Given the description of an element on the screen output the (x, y) to click on. 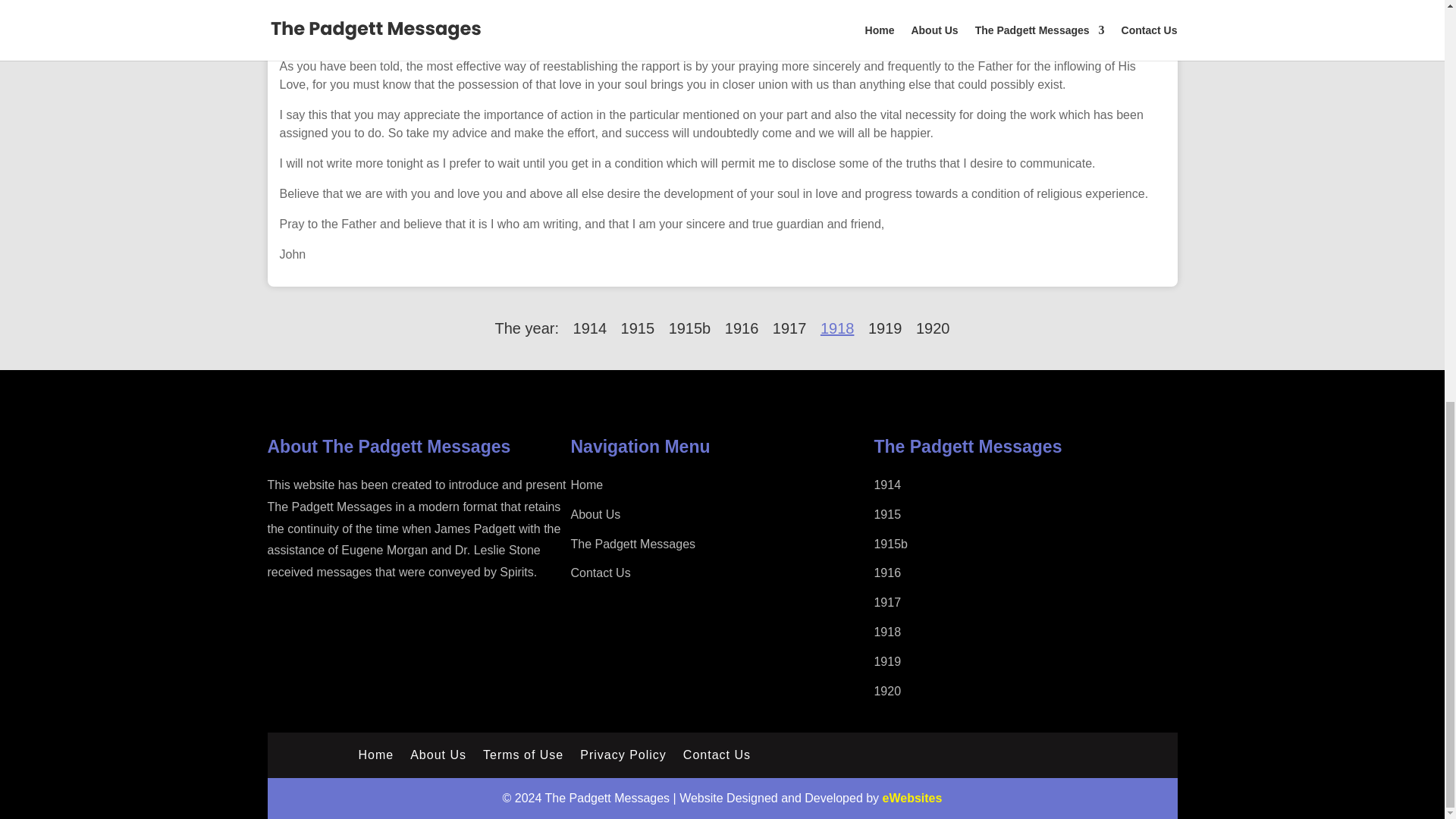
1915b (689, 328)
1918 (837, 328)
1916 (741, 328)
1914 (590, 328)
1917 (789, 328)
1915 (638, 328)
